Given the description of an element on the screen output the (x, y) to click on. 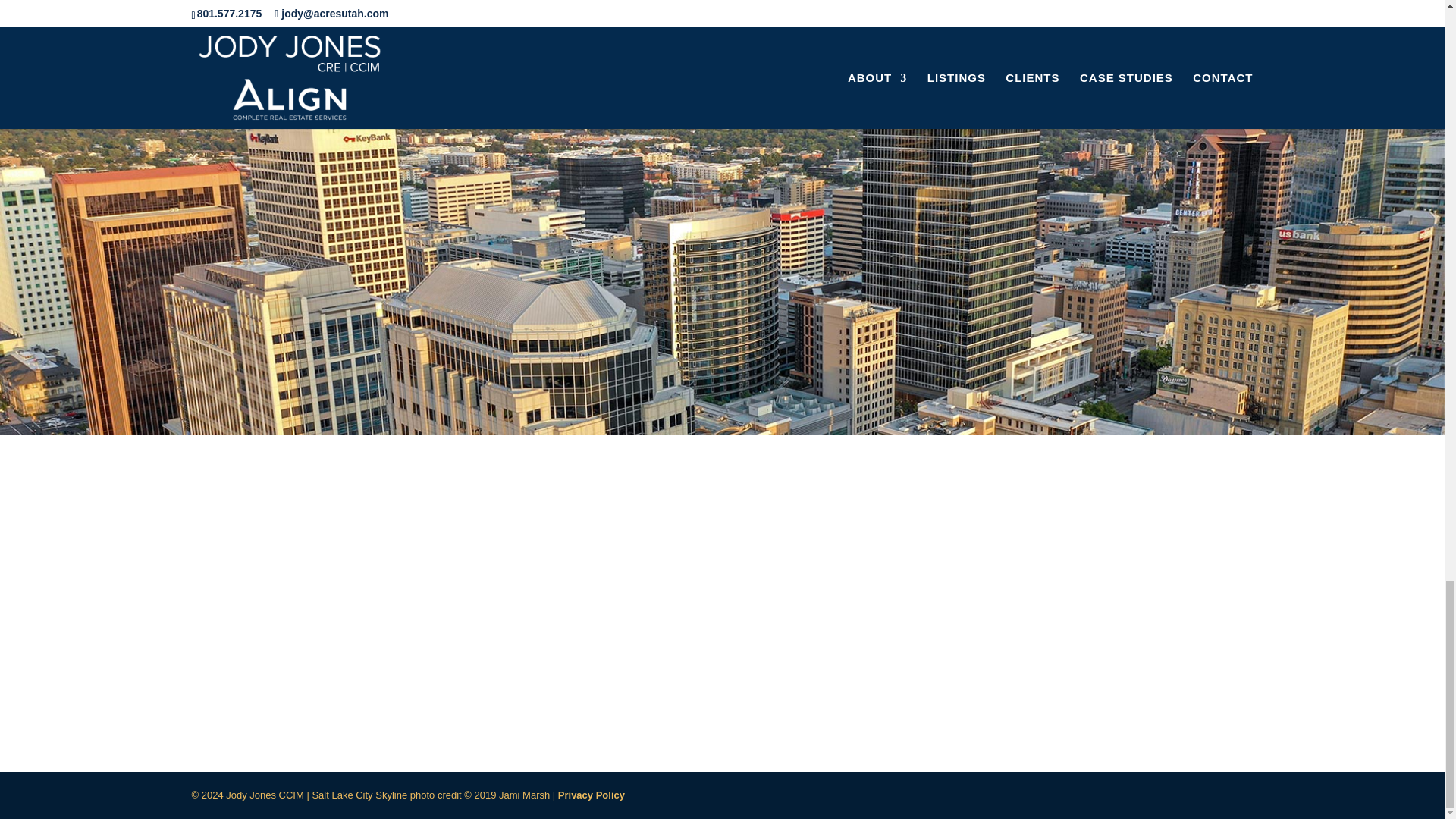
Privacy Policy (590, 794)
